Given the description of an element on the screen output the (x, y) to click on. 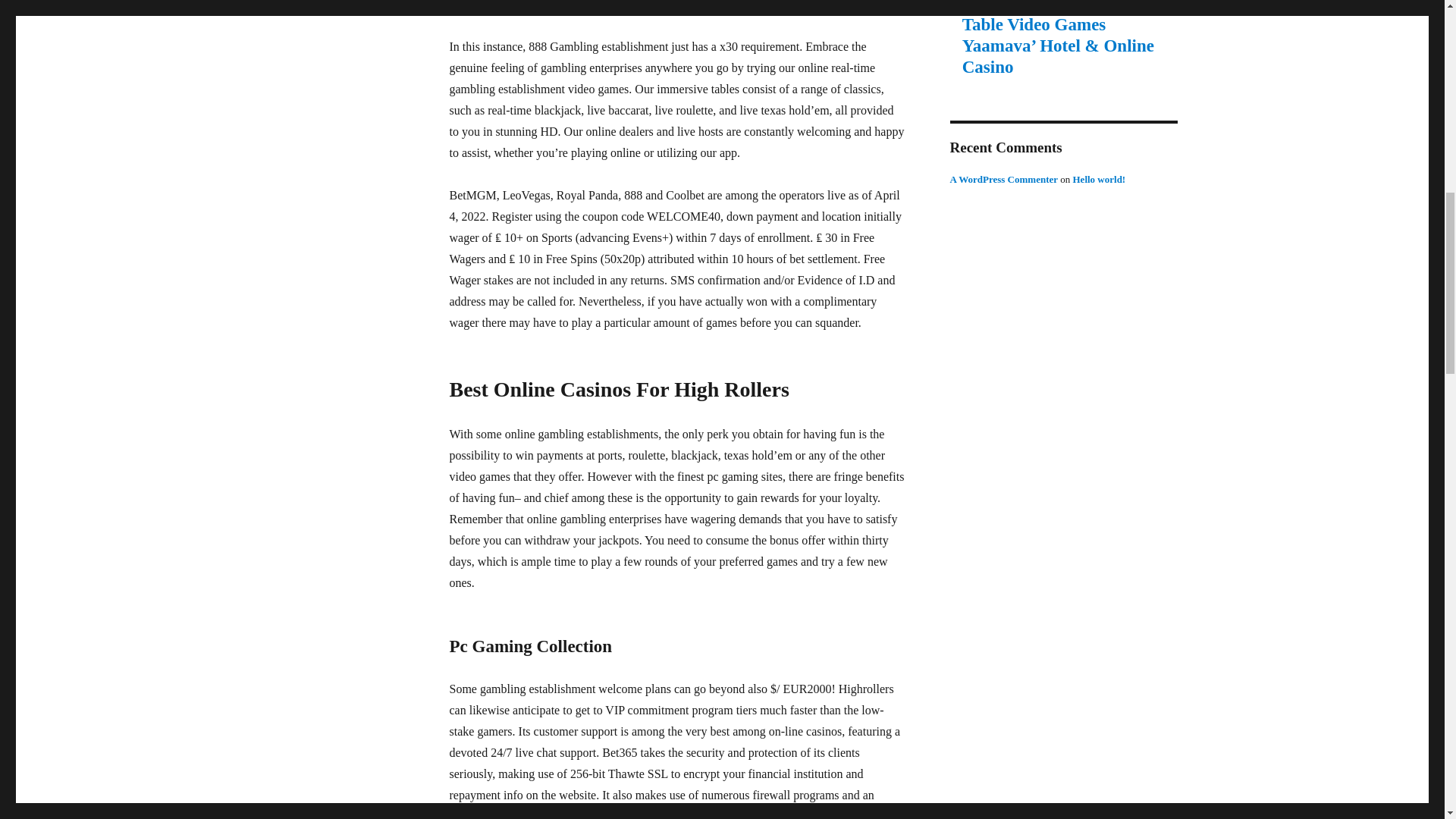
Hello world! (1098, 179)
A WordPress Commenter (1003, 179)
